Given the description of an element on the screen output the (x, y) to click on. 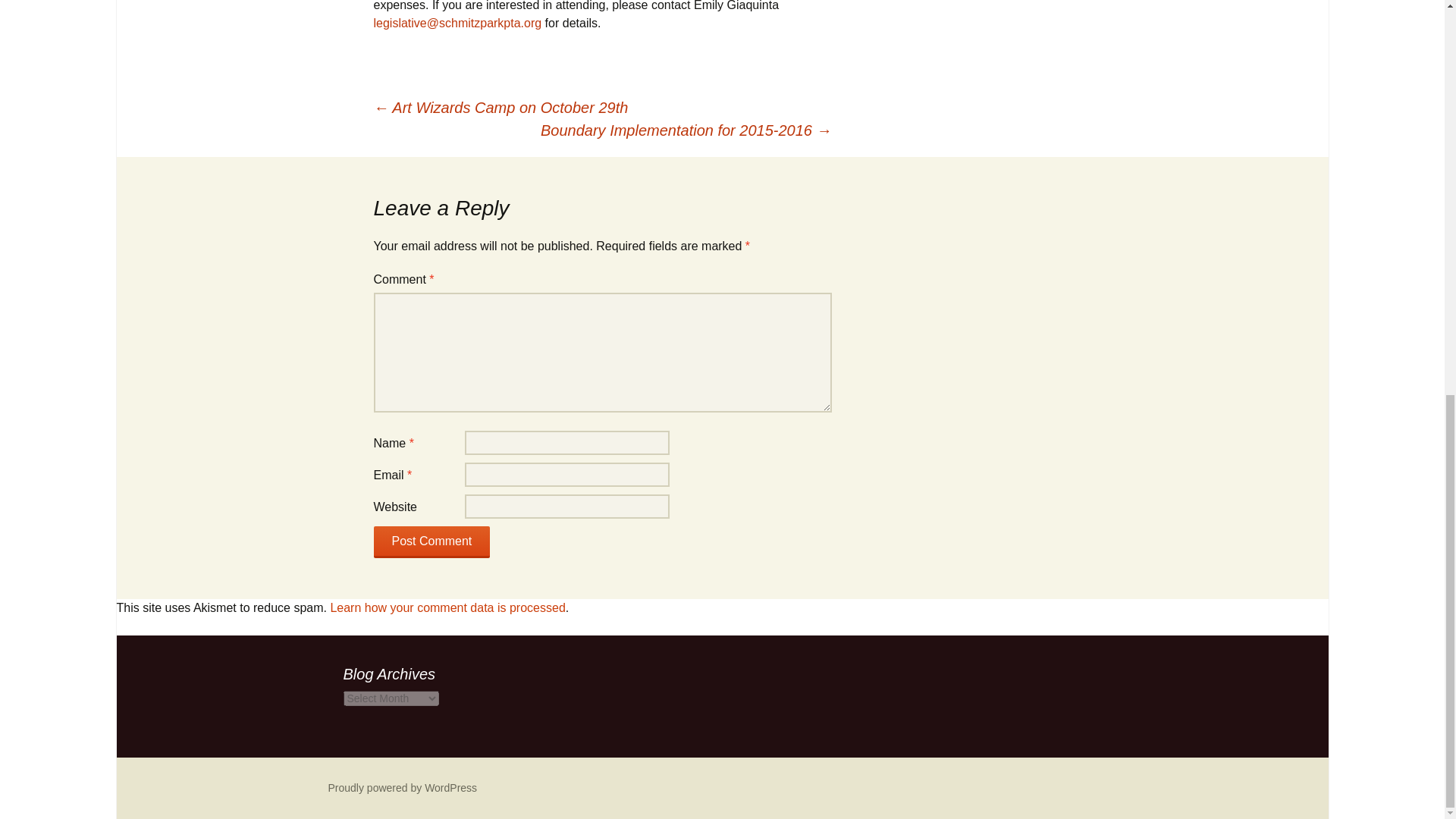
Learn how your comment data is processed (447, 607)
Post Comment (430, 541)
Post Comment (430, 541)
Semantic Personal Publishing Platform (402, 787)
